Given the description of an element on the screen output the (x, y) to click on. 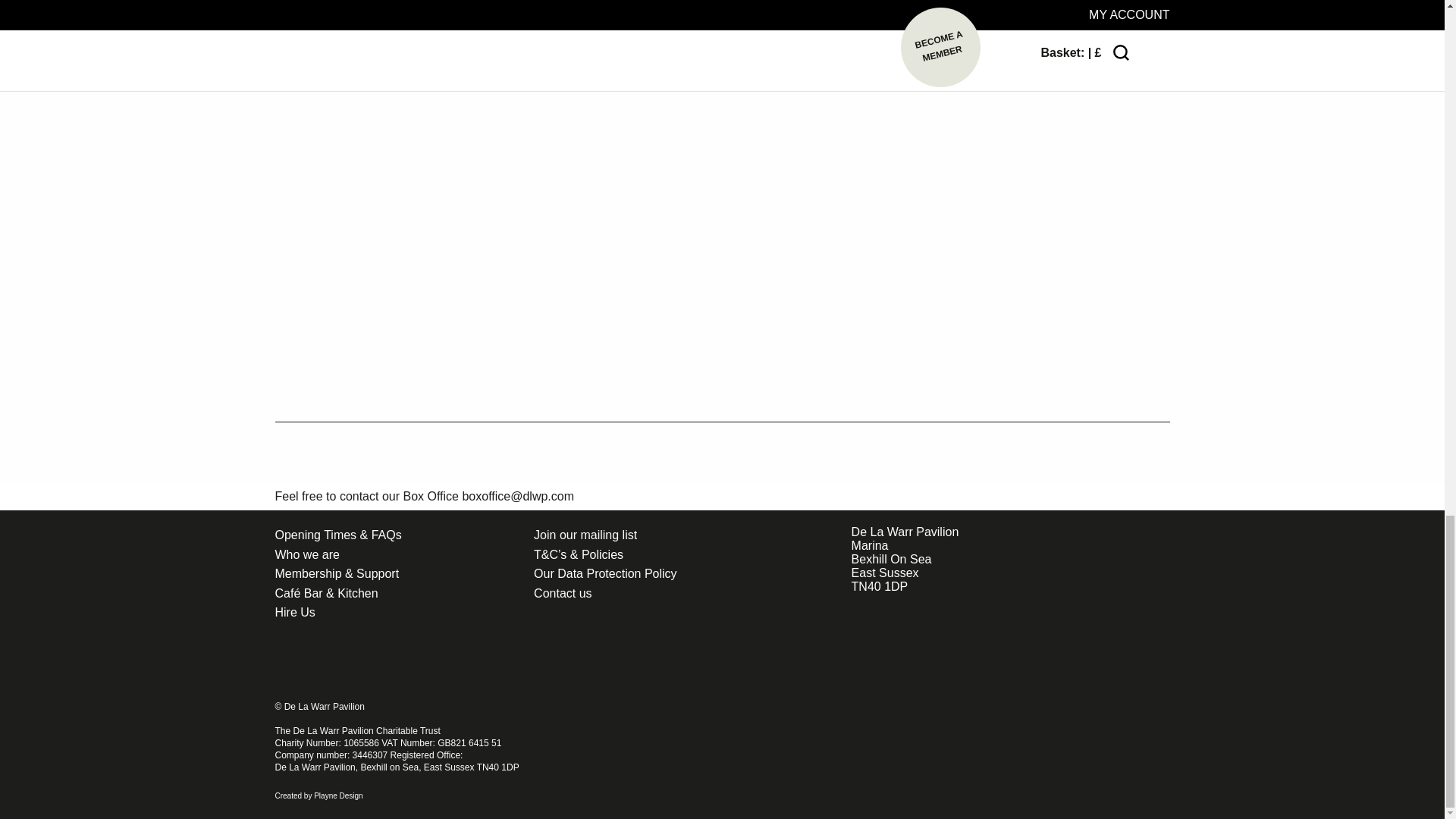
Instagram (329, 661)
Facebook (284, 661)
SoundCloud (509, 661)
YouTube (419, 661)
LinkedIn (464, 661)
Twitter (374, 661)
